Given the description of an element on the screen output the (x, y) to click on. 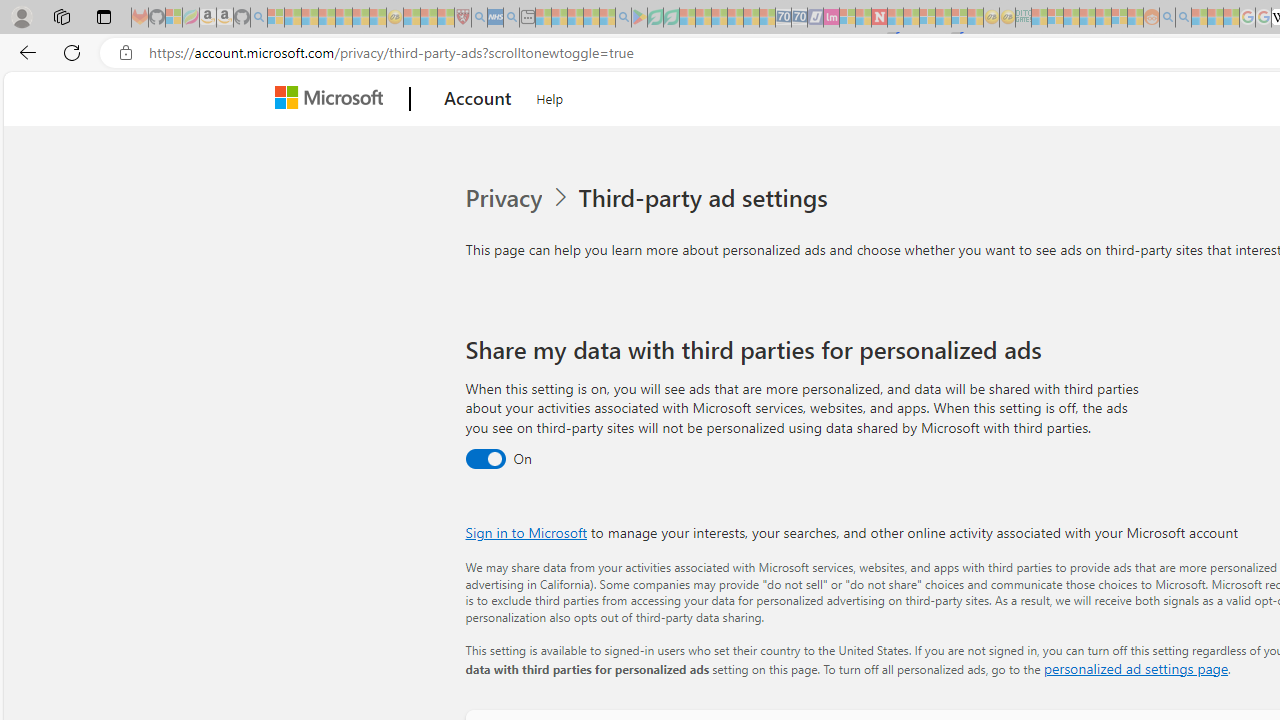
Local - MSN - Sleeping (445, 17)
The Weather Channel - MSN - Sleeping (309, 17)
Third-party ad settings (706, 197)
Expert Portfolios - Sleeping (1087, 17)
